Given the description of an element on the screen output the (x, y) to click on. 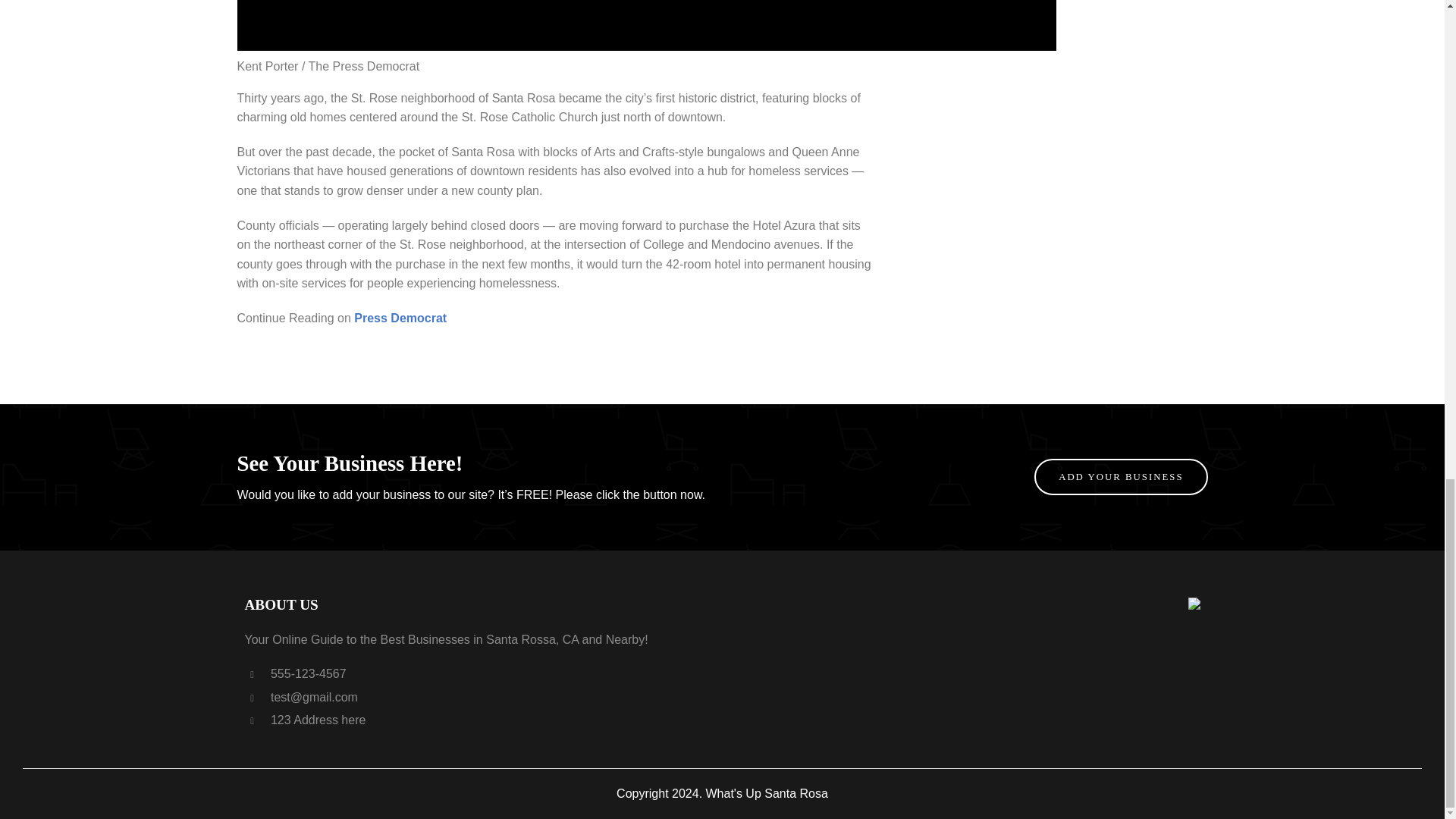
ADD YOUR BUSINESS (1120, 476)
Press Democrat (399, 318)
555-123-4567 (295, 673)
